Given the description of an element on the screen output the (x, y) to click on. 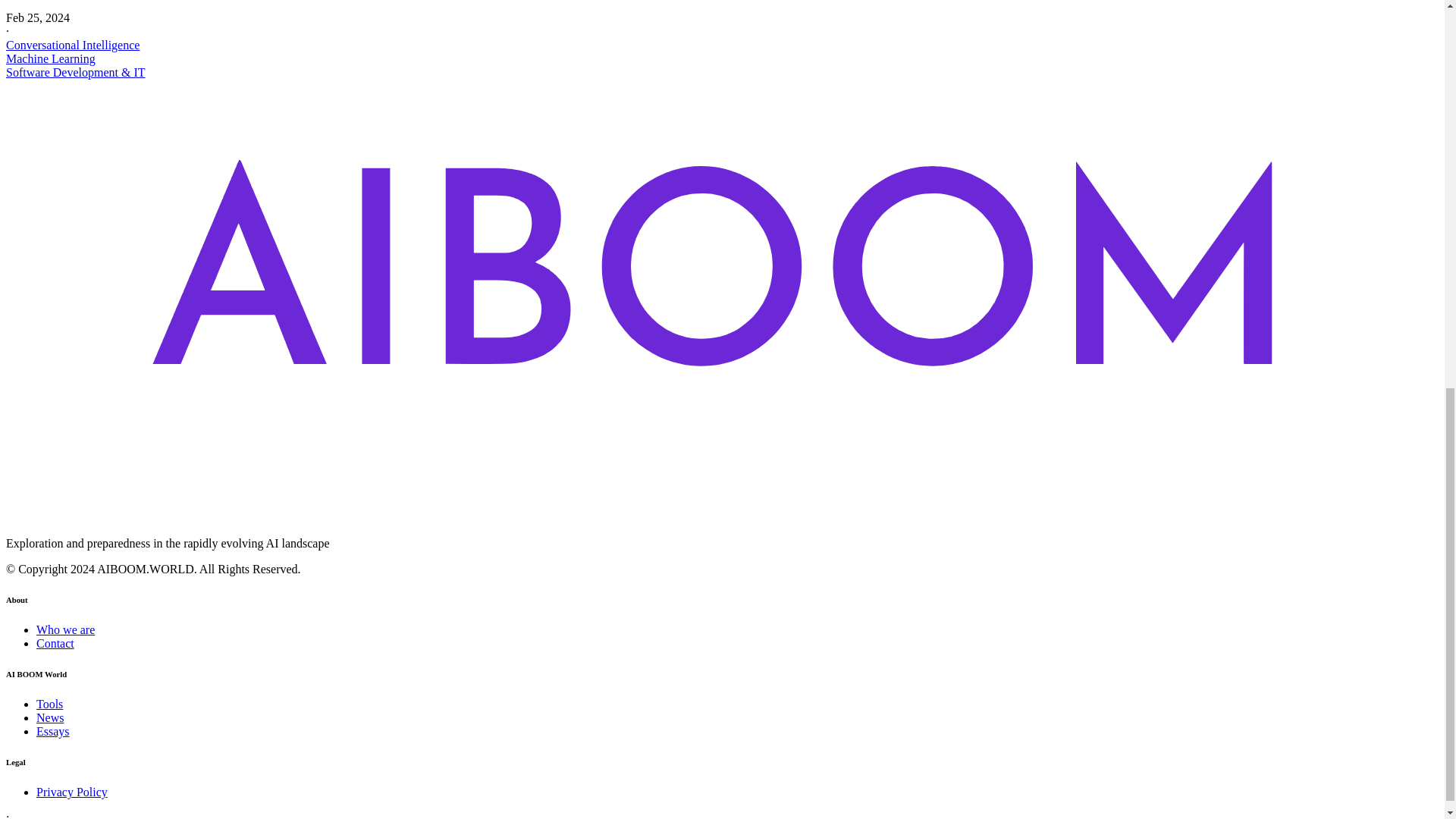
Privacy Policy (71, 791)
Who we are (65, 629)
News (50, 717)
Contact (55, 643)
Tools (49, 703)
Essays (52, 730)
